Given the description of an element on the screen output the (x, y) to click on. 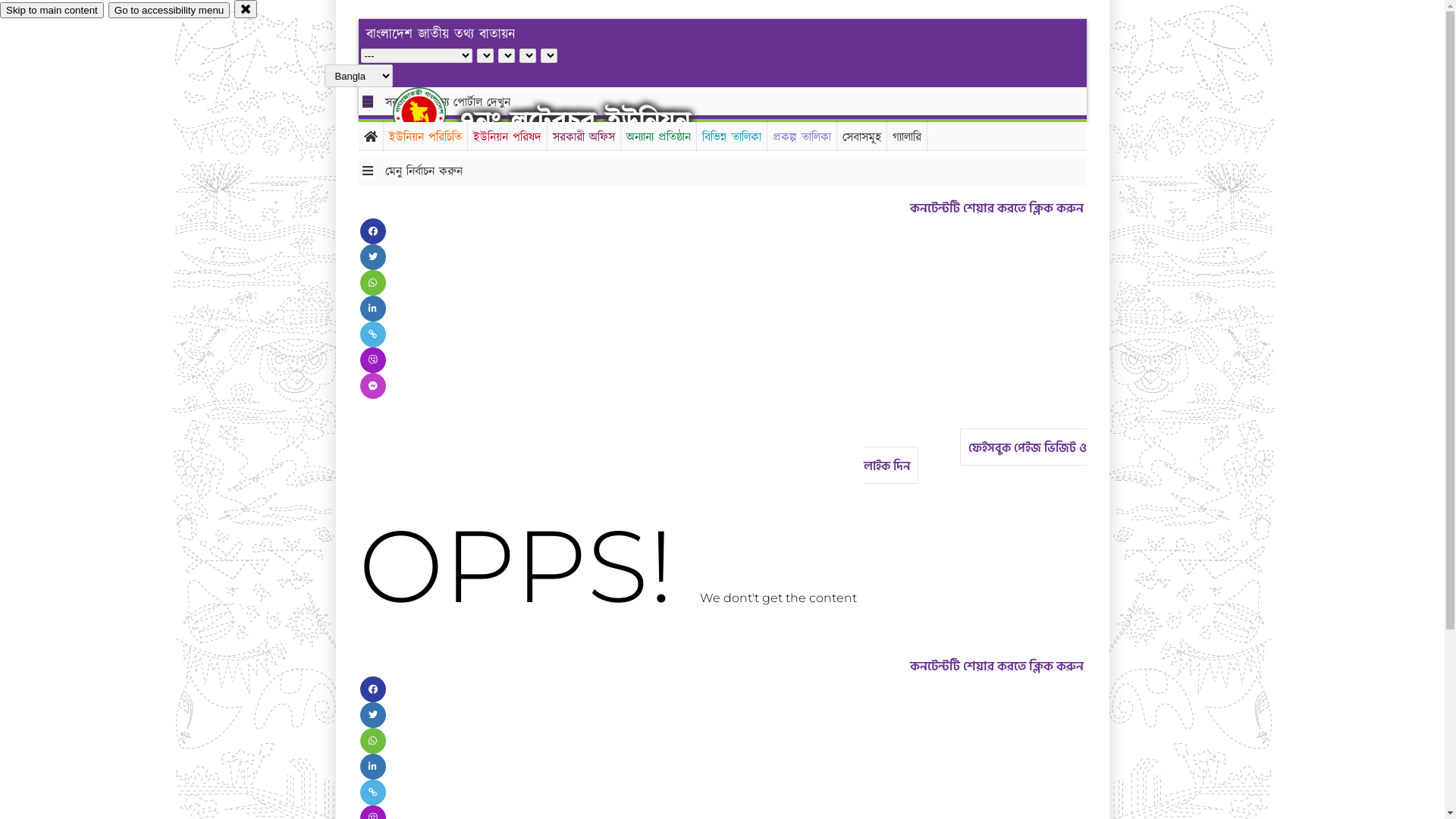
close Element type: hover (245, 9)
Go to accessibility menu Element type: text (168, 10)

                
             Element type: hover (431, 112)
Skip to main content Element type: text (51, 10)
